Given the description of an element on the screen output the (x, y) to click on. 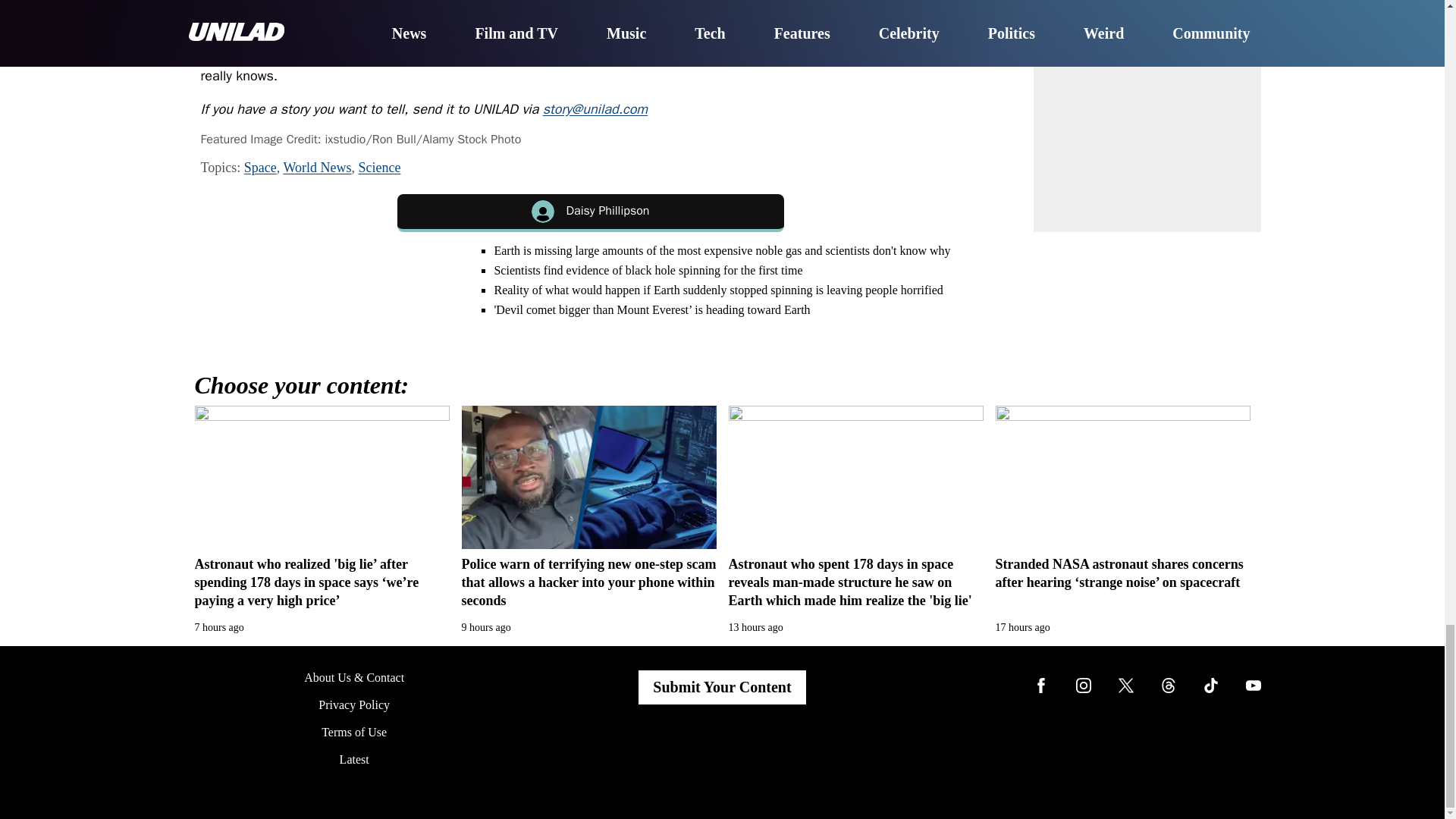
Science (379, 167)
World News (316, 167)
Space (260, 167)
